Given the description of an element on the screen output the (x, y) to click on. 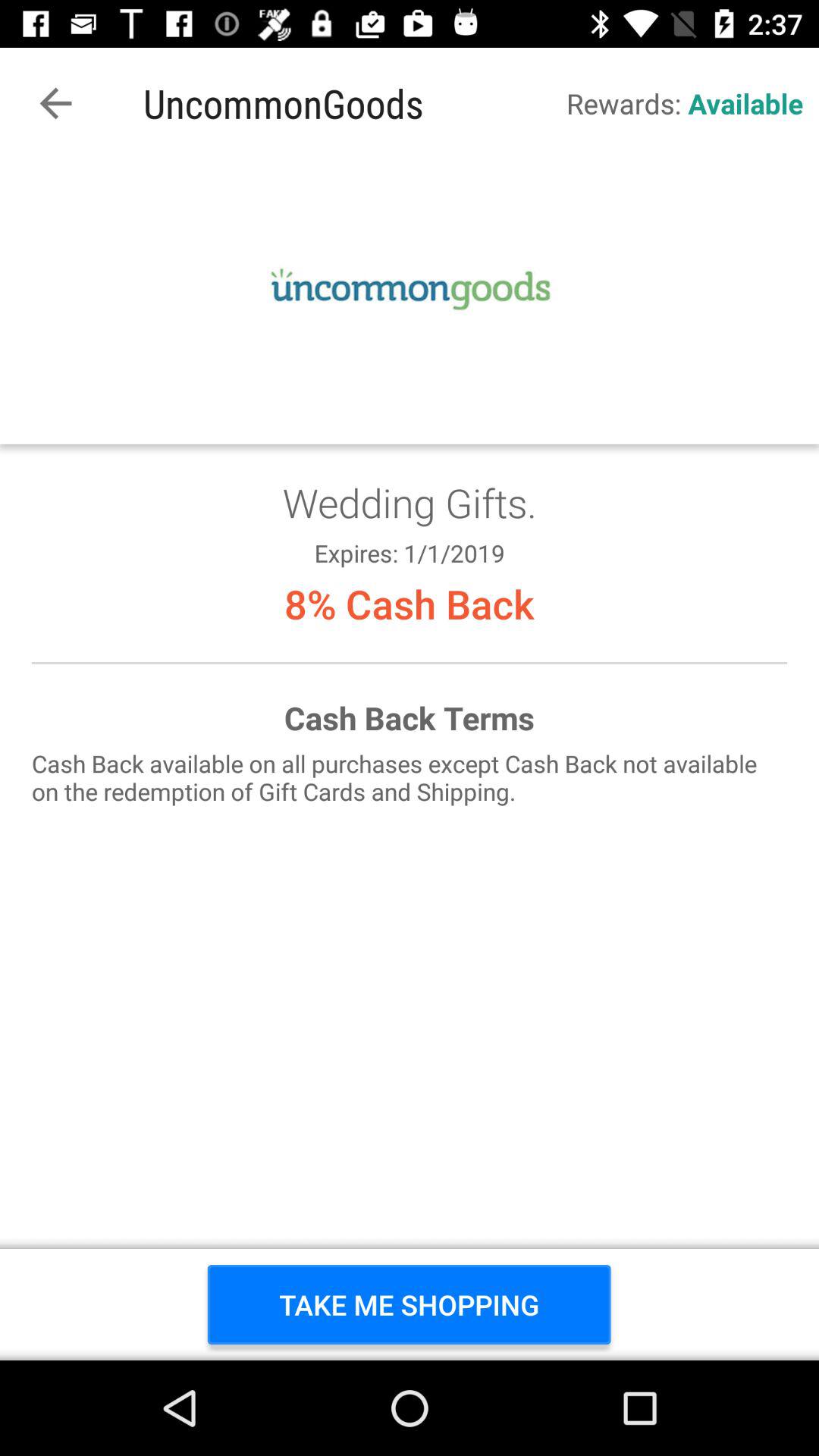
flip until take me shopping item (408, 1304)
